Given the description of an element on the screen output the (x, y) to click on. 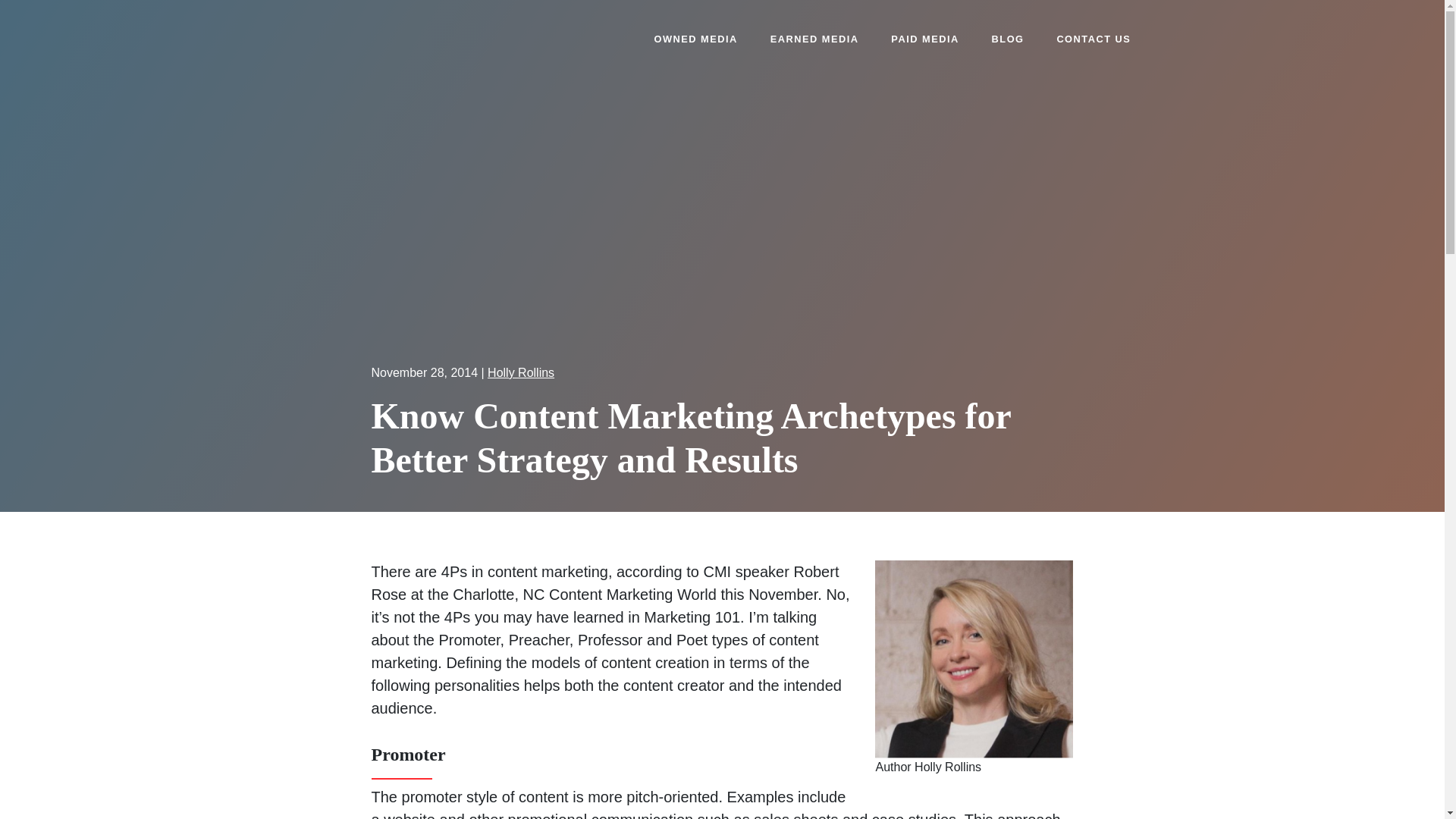
OWNED MEDIA (694, 39)
EARNED MEDIA (814, 39)
PAID MEDIA (924, 39)
Holly Rollins (520, 372)
BLOG (1008, 39)
CONTACT US (1094, 39)
